Given the description of an element on the screen output the (x, y) to click on. 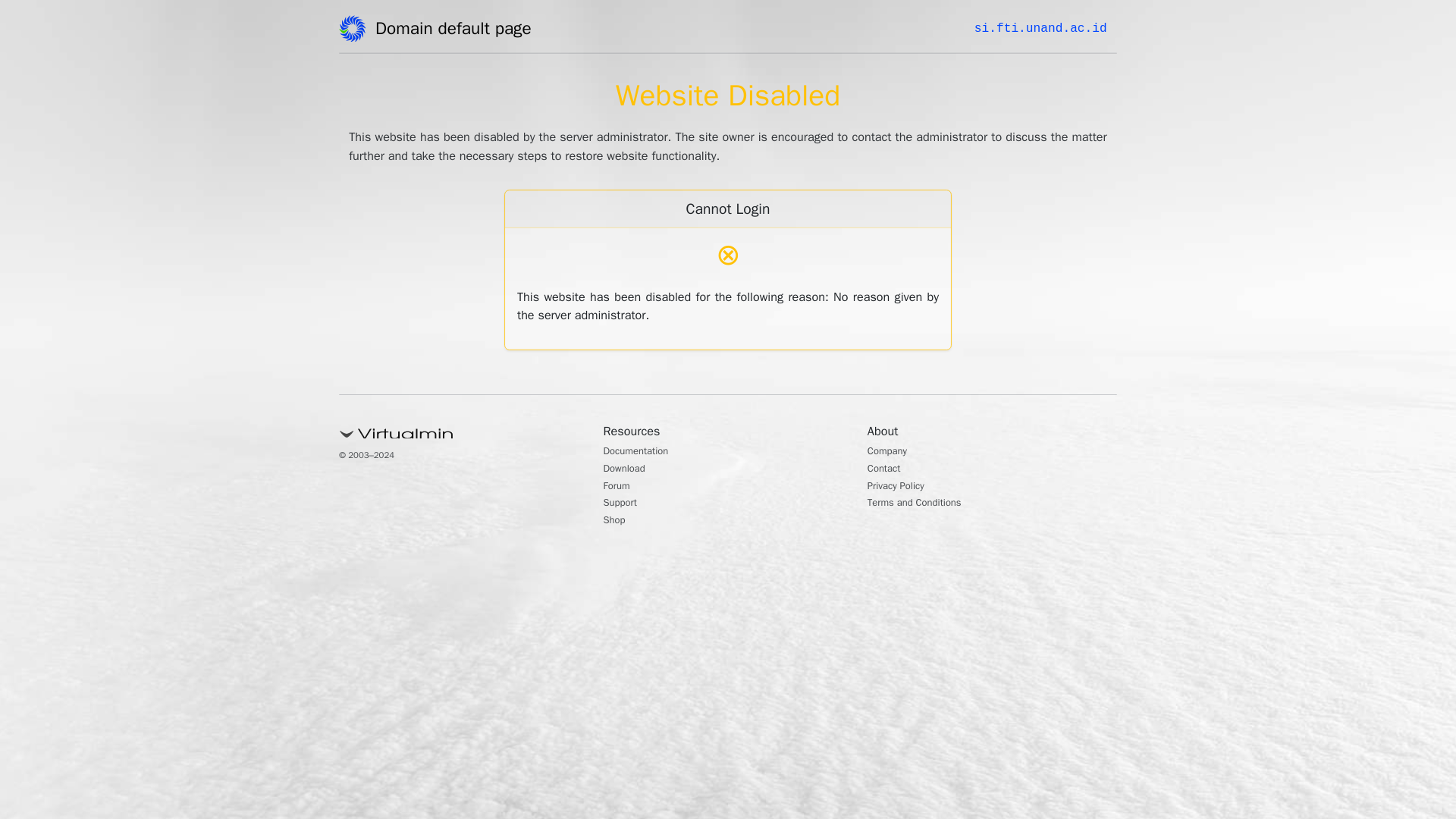
Shop (617, 521)
Privacy Policy (902, 487)
Terms and Conditions (925, 503)
Forum (620, 487)
Contact (887, 469)
Download (629, 469)
Support (624, 503)
Documentation (644, 452)
Domain default page (457, 31)
Company (891, 452)
